Given the description of an element on the screen output the (x, y) to click on. 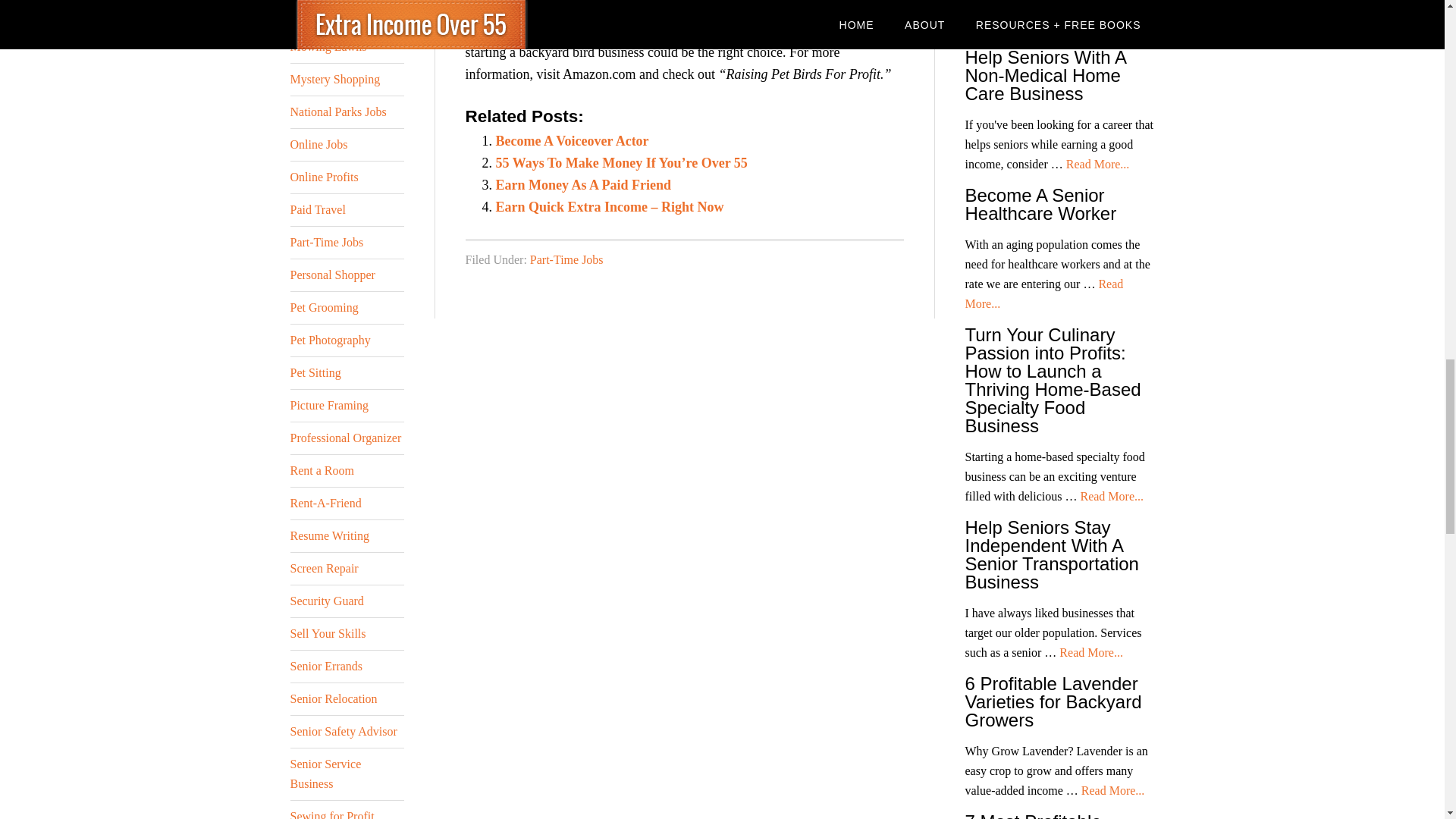
7 Most Profitable Plants To Grow (1031, 815)
Help Seniors With A Non-Medical Home Care Business (1044, 75)
Earn Money As A Paid Friend (583, 184)
Become A Voiceover Actor (572, 140)
Read More... (1111, 495)
Read More... (1090, 652)
6 Profitable Lavender Varieties for Backyard Growers (1052, 701)
Earn Money As A Paid Friend (583, 184)
Part-Time Jobs (566, 259)
Read More... (1042, 293)
